Given the description of an element on the screen output the (x, y) to click on. 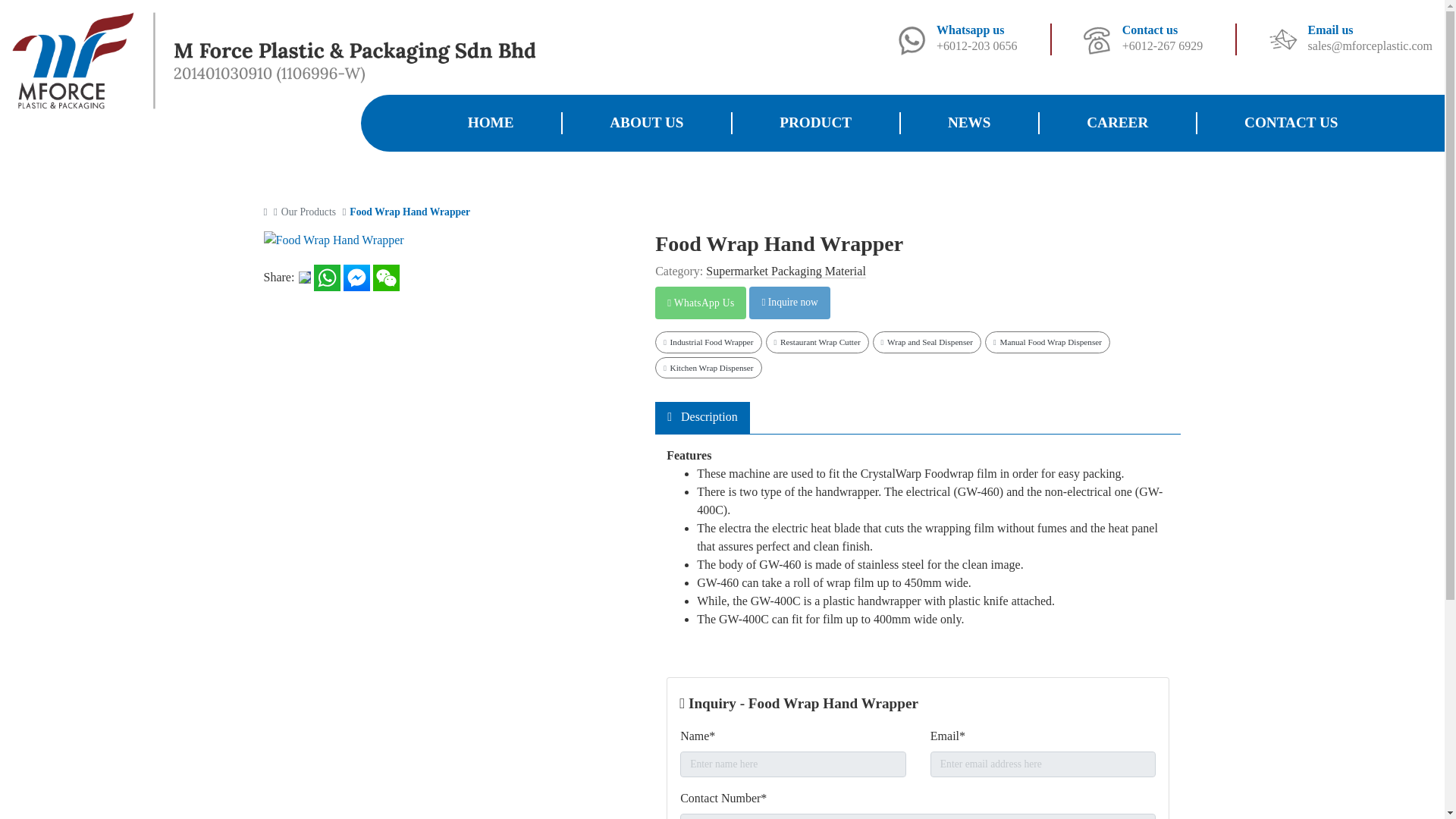
Product (814, 122)
ABOUT US (646, 122)
News (969, 122)
Manual Food Wrap Dispenser (1047, 341)
Inquire now (789, 302)
Home (490, 122)
Email (1281, 38)
Inquire now (789, 302)
Contact (1096, 38)
Restaurant Wrap Cutter (817, 341)
